Given the description of an element on the screen output the (x, y) to click on. 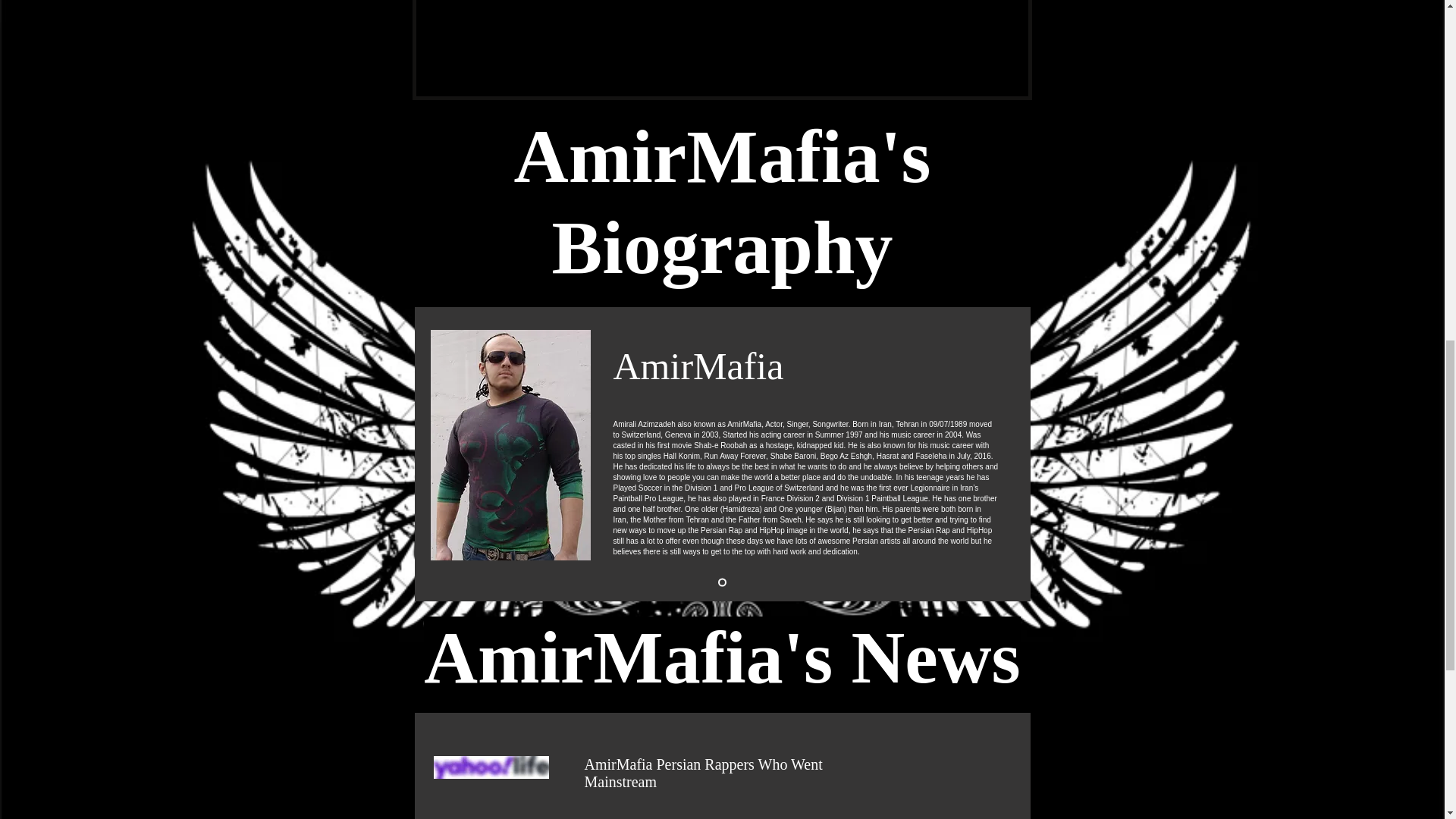
Pretty White Blouse (490, 766)
